Given the description of an element on the screen output the (x, y) to click on. 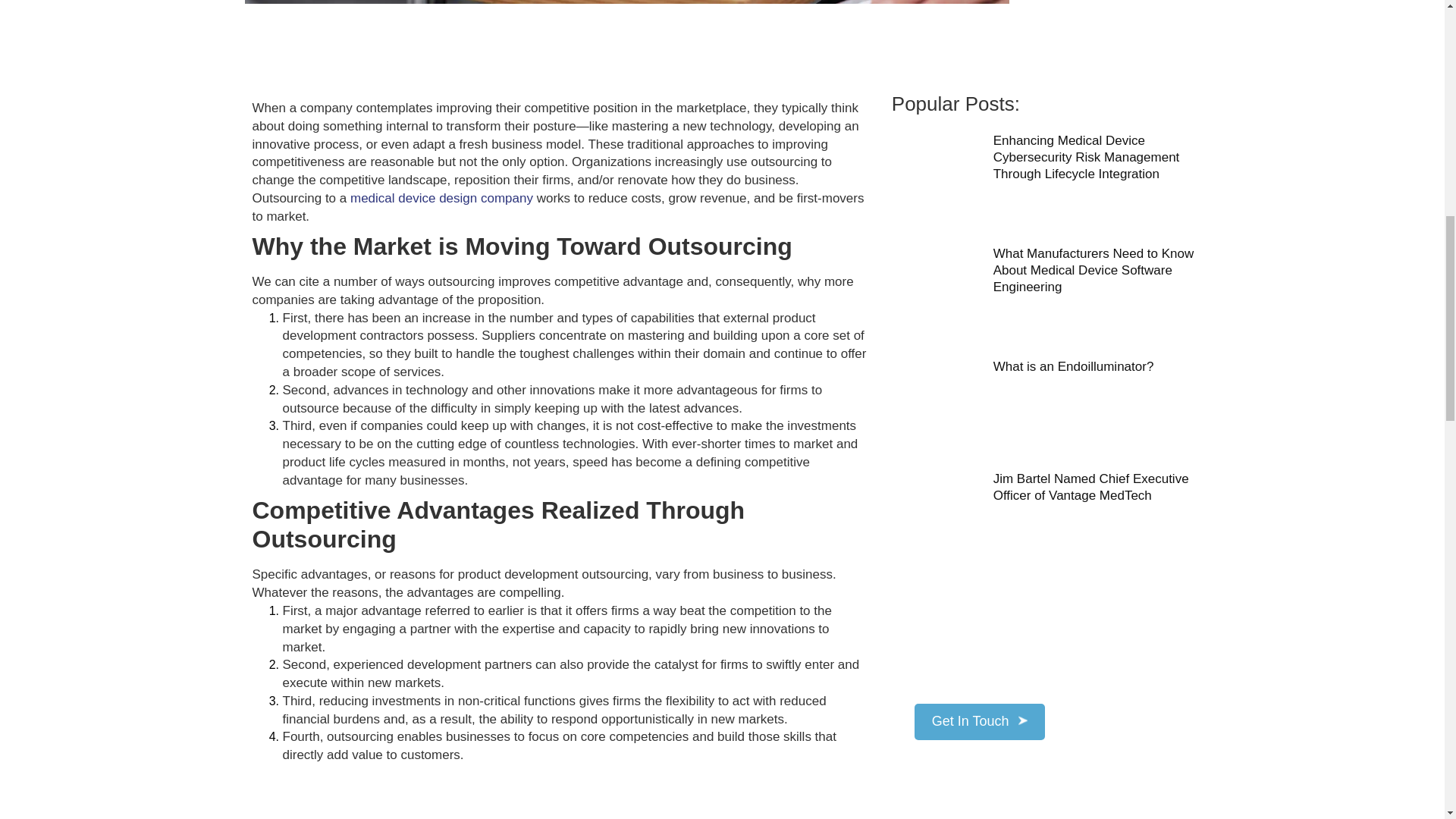
medical device design company (441, 197)
